Given the description of an element on the screen output the (x, y) to click on. 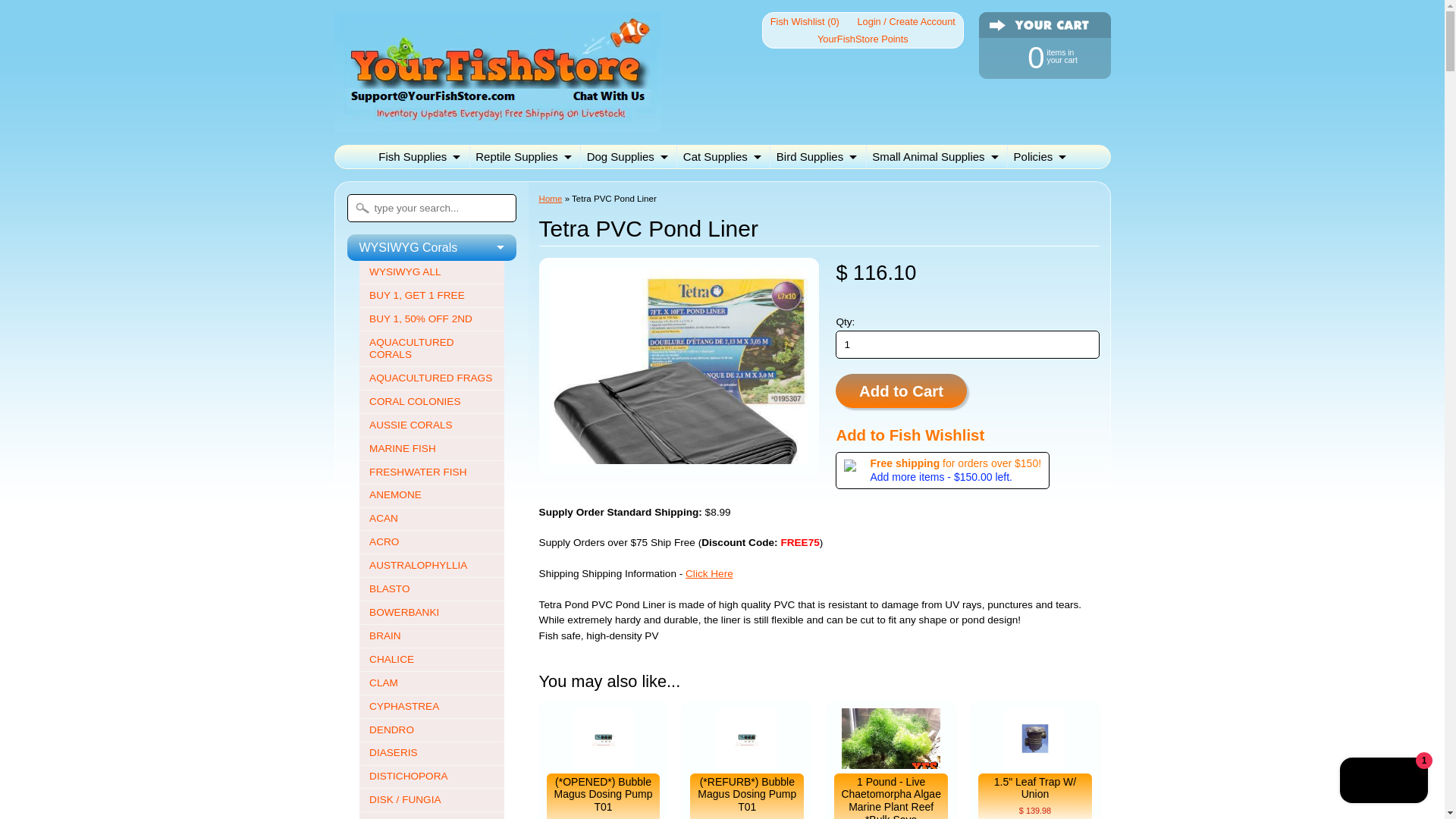
1 (1036, 56)
YourFishStore Points (967, 344)
Fish Supplies (862, 38)
www.YourFishStore.com (418, 156)
